Given the description of an element on the screen output the (x, y) to click on. 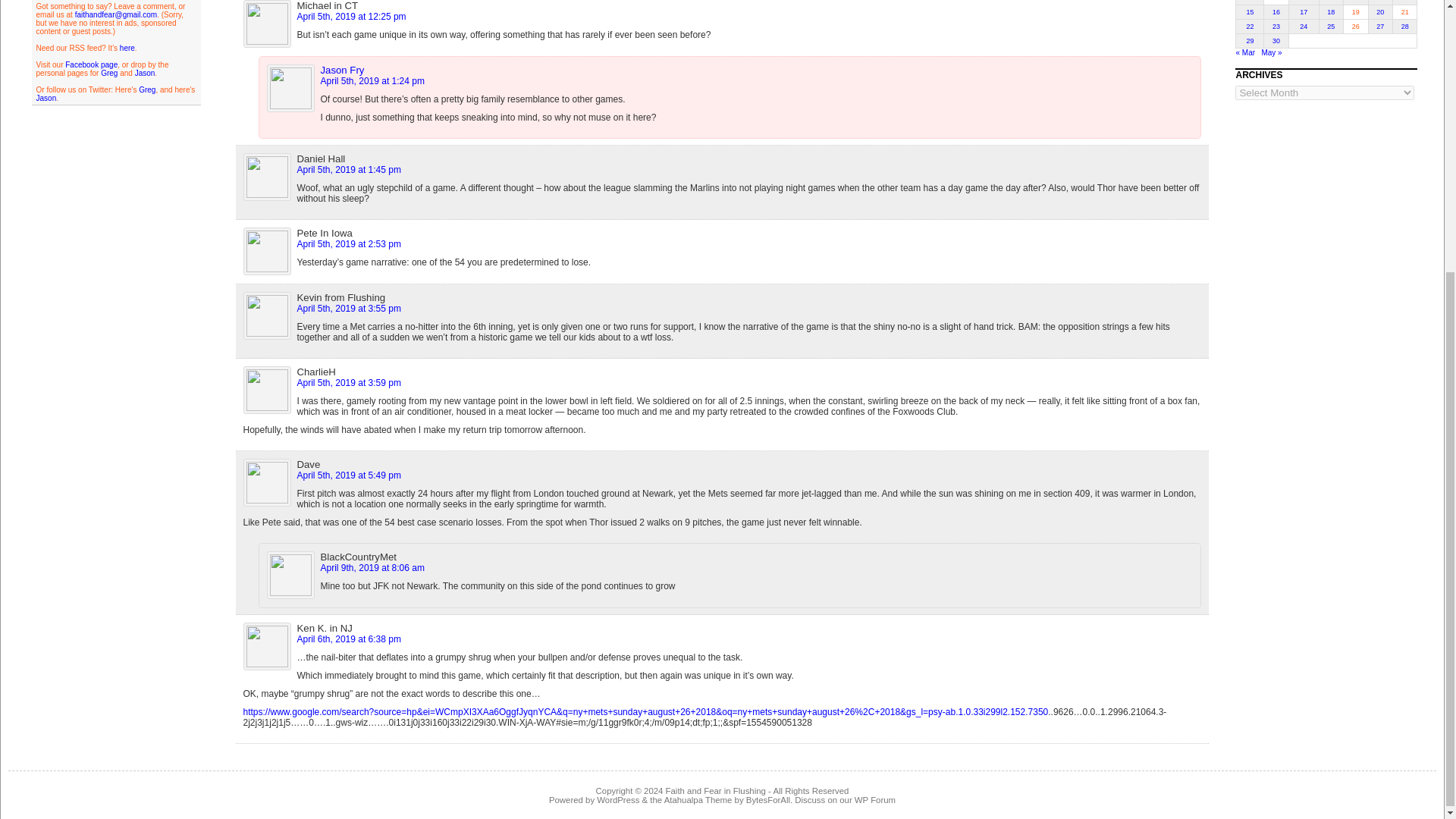
April 9th, 2019 at 8:06 am (372, 567)
Greg (146, 89)
Jason (145, 72)
here (127, 48)
April 5th, 2019 at 12:25 pm (351, 16)
BFA Webdesign (767, 799)
April 5th, 2019 at 1:24 pm (372, 81)
April 6th, 2019 at 6:38 pm (349, 638)
April 5th, 2019 at 3:55 pm (349, 308)
Customizable WordPress themes (697, 799)
Jason Fry (342, 70)
April 5th, 2019 at 5:49 pm (349, 475)
Greg (108, 72)
Jason (46, 98)
April 5th, 2019 at 3:59 pm (349, 382)
